Given the description of an element on the screen output the (x, y) to click on. 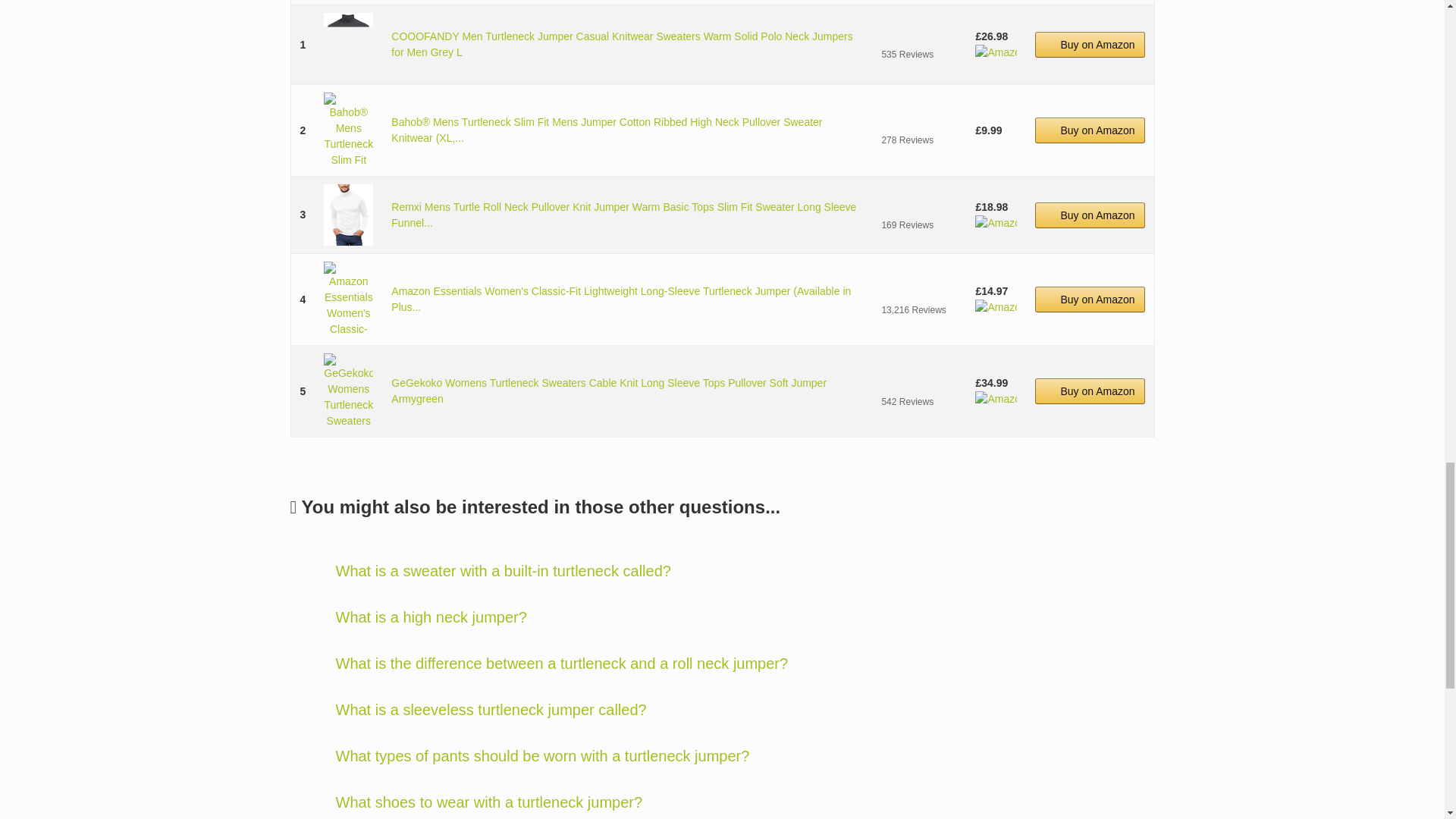
Amazon Prime (995, 51)
Reviews on Amazon (918, 206)
Reviews on Amazon (918, 121)
Reviews on Amazon (918, 36)
Buy on Amazon (1089, 215)
Reviews on Amazon (918, 291)
Amazon Prime (995, 223)
Buy on Amazon (1089, 44)
Buy on Amazon (1089, 130)
